Given the description of an element on the screen output the (x, y) to click on. 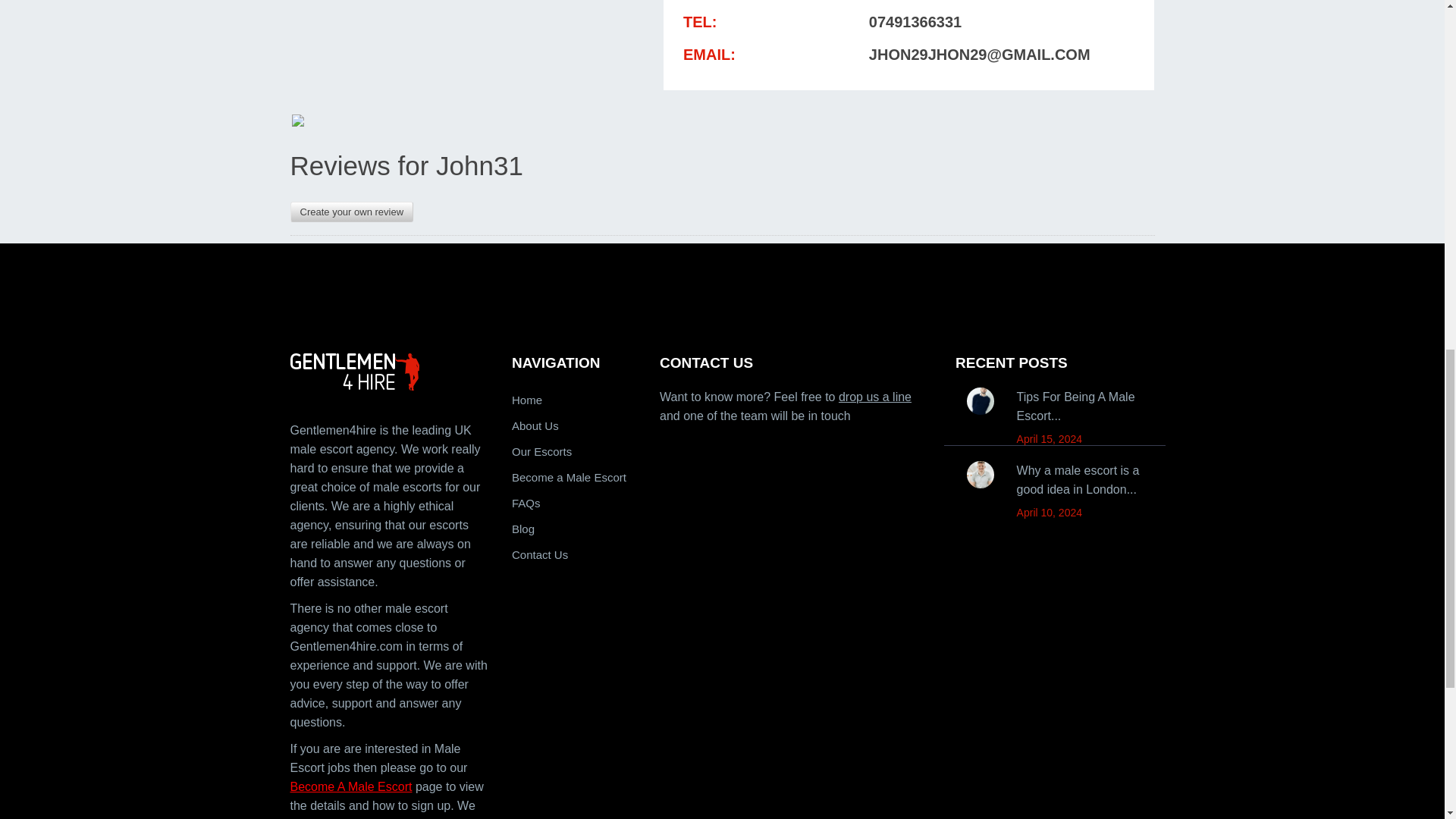
Gentlemen 4 Hire (389, 371)
